Given the description of an element on the screen output the (x, y) to click on. 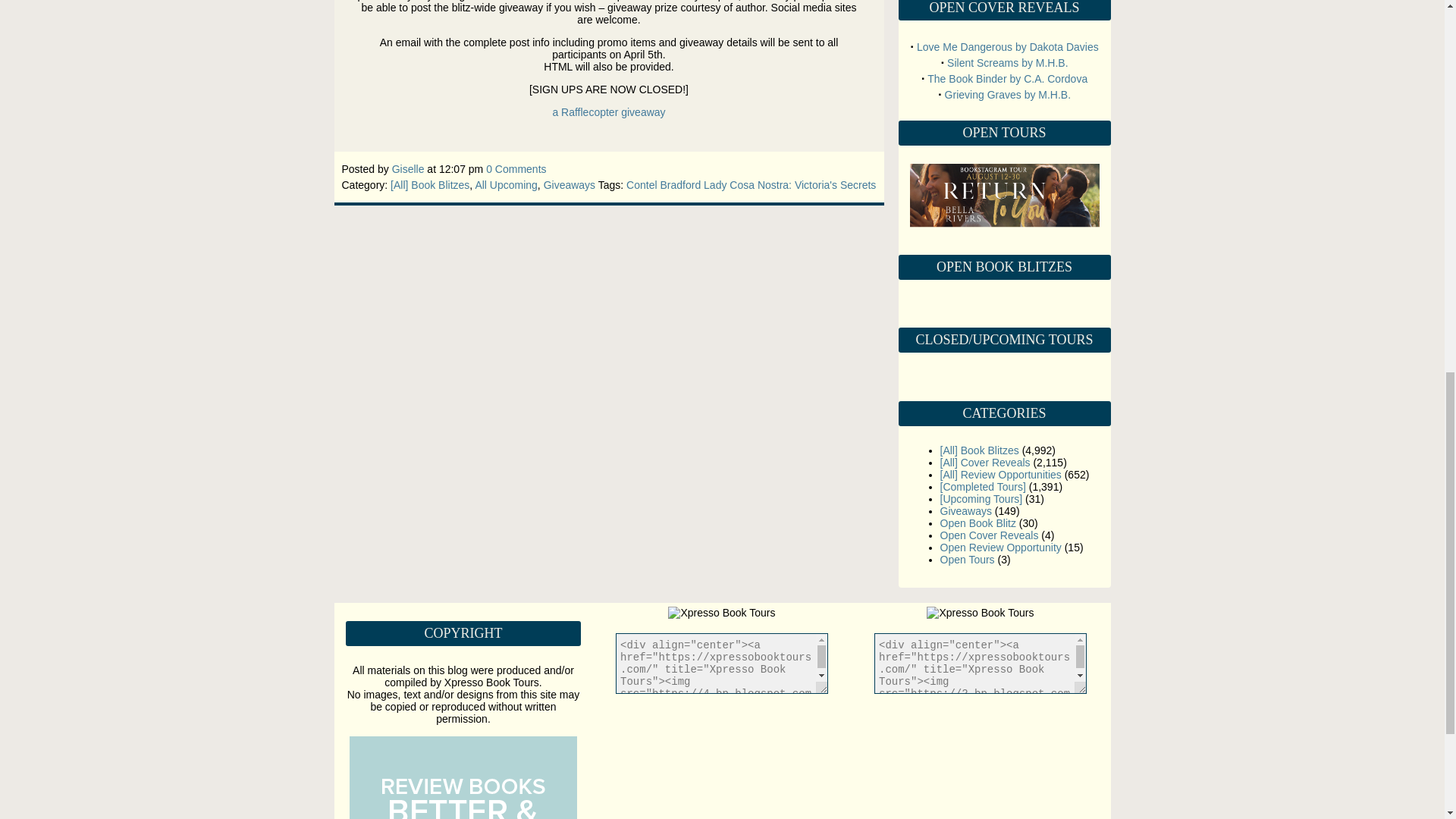
Giselle (408, 168)
View all posts filed under Open Review Opportunity (1000, 547)
Xpresso Book Tours (721, 612)
Posts by Giselle (408, 168)
All Upcoming (505, 184)
View all posts filed under Open Cover Reveals (989, 535)
a Rafflecopter giveaway (608, 111)
View all posts filed under Giveaways (965, 510)
0 Comments (516, 168)
Xpresso Book Tours (979, 612)
